Given the description of an element on the screen output the (x, y) to click on. 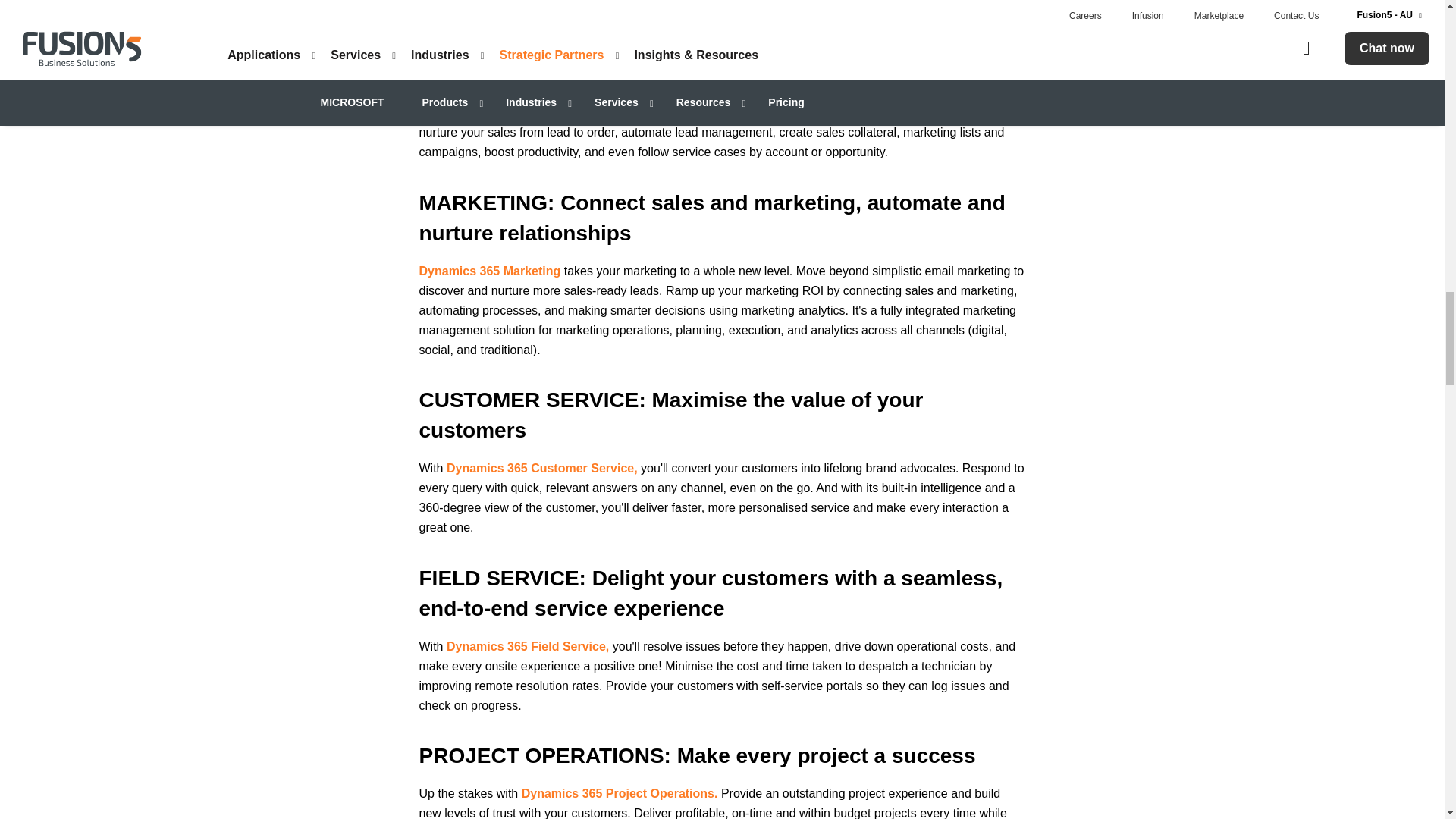
CRM Field Service (527, 645)
CRM Customer Service (541, 468)
CRM Project Service Automation (619, 793)
CRM Sales (476, 92)
CRM Marketing (489, 270)
